Given the description of an element on the screen output the (x, y) to click on. 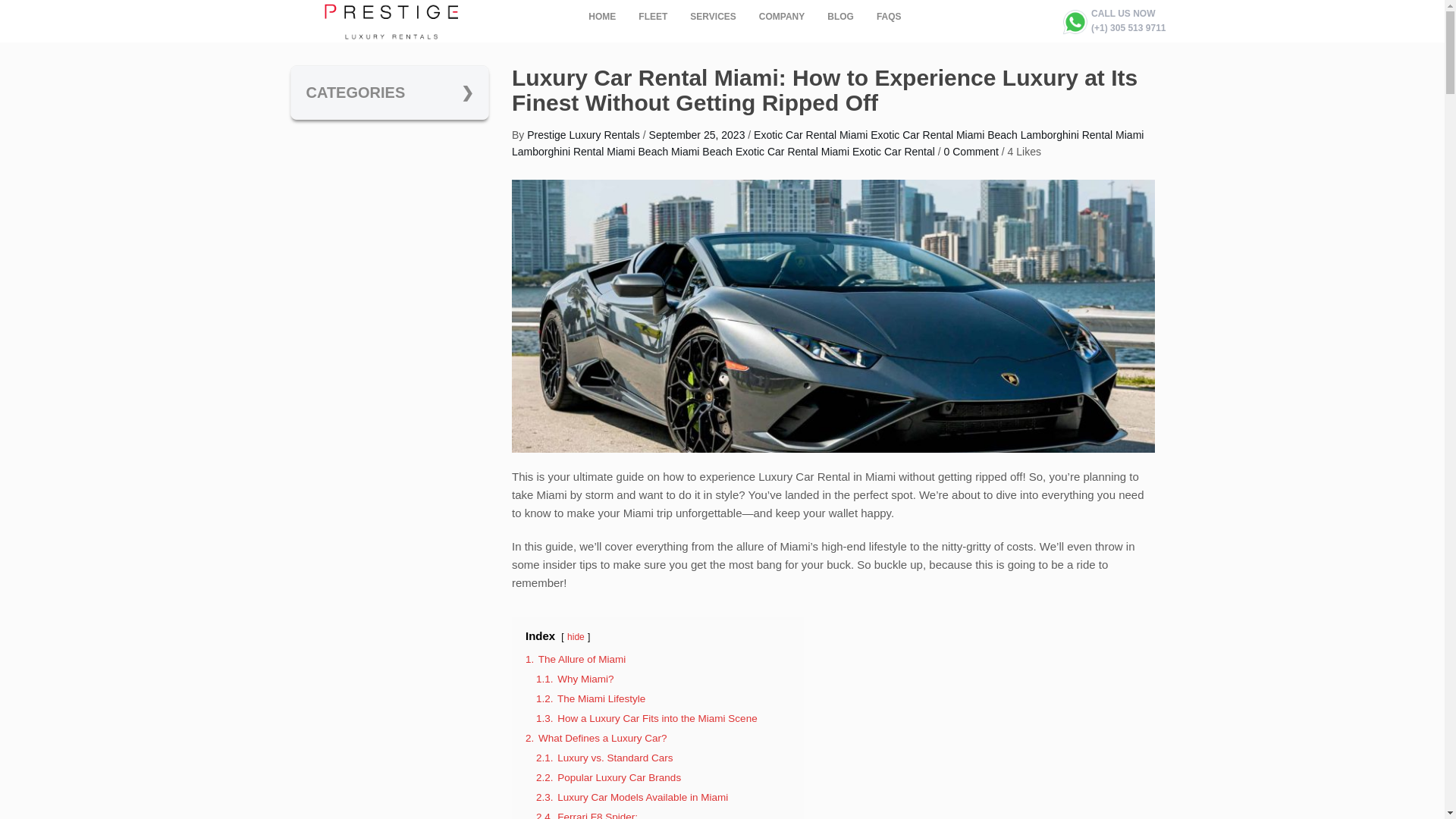
SERVICES (712, 17)
HOME (601, 17)
FAQS (888, 17)
FLEET (652, 17)
BLOG (839, 17)
COMPANY (781, 17)
